Given the description of an element on the screen output the (x, y) to click on. 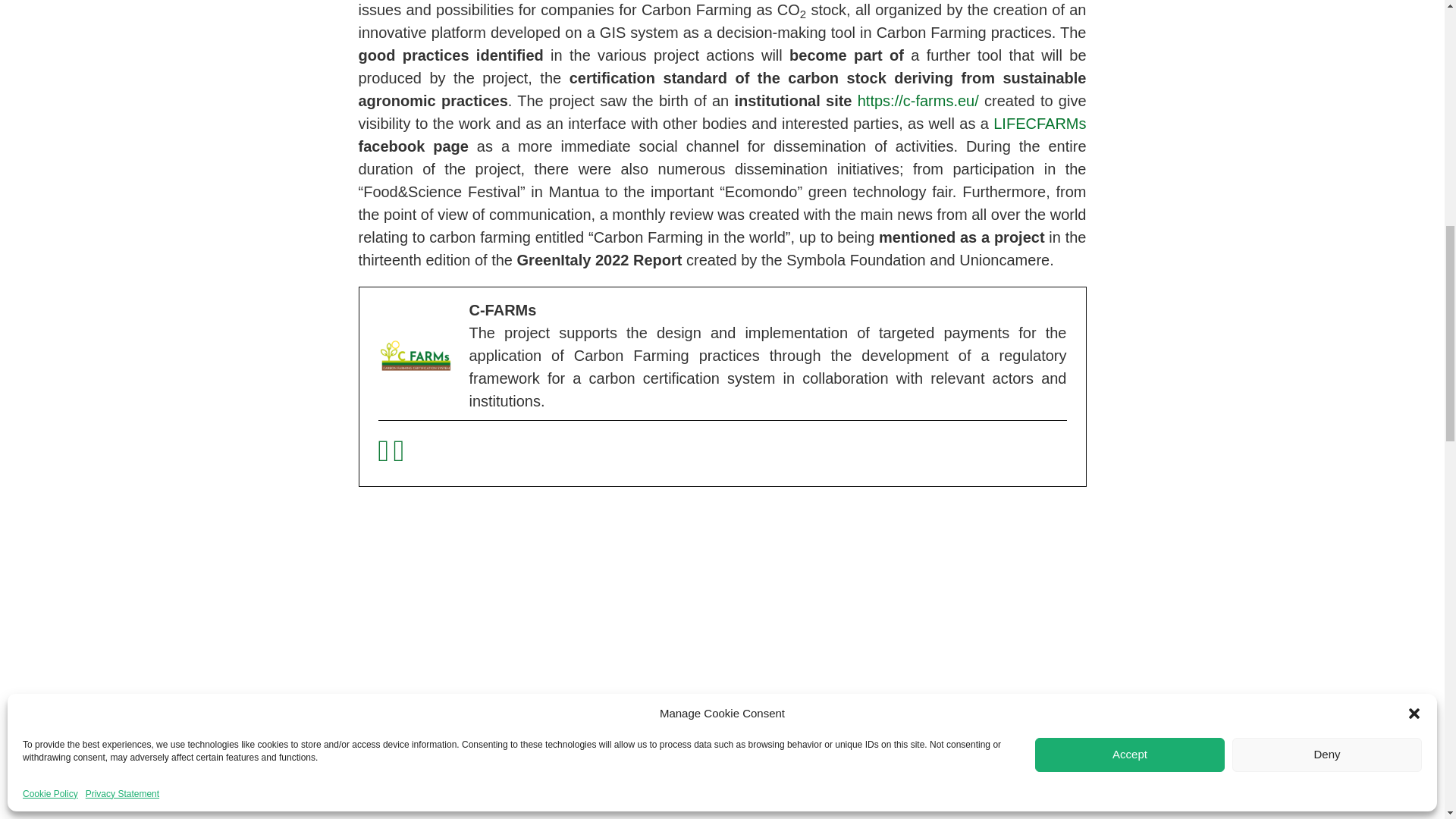
Accept (1129, 344)
Deny (1326, 344)
E-mail (385, 455)
Cookie Policy (50, 383)
Privacy Statement (121, 383)
